Given the description of an element on the screen output the (x, y) to click on. 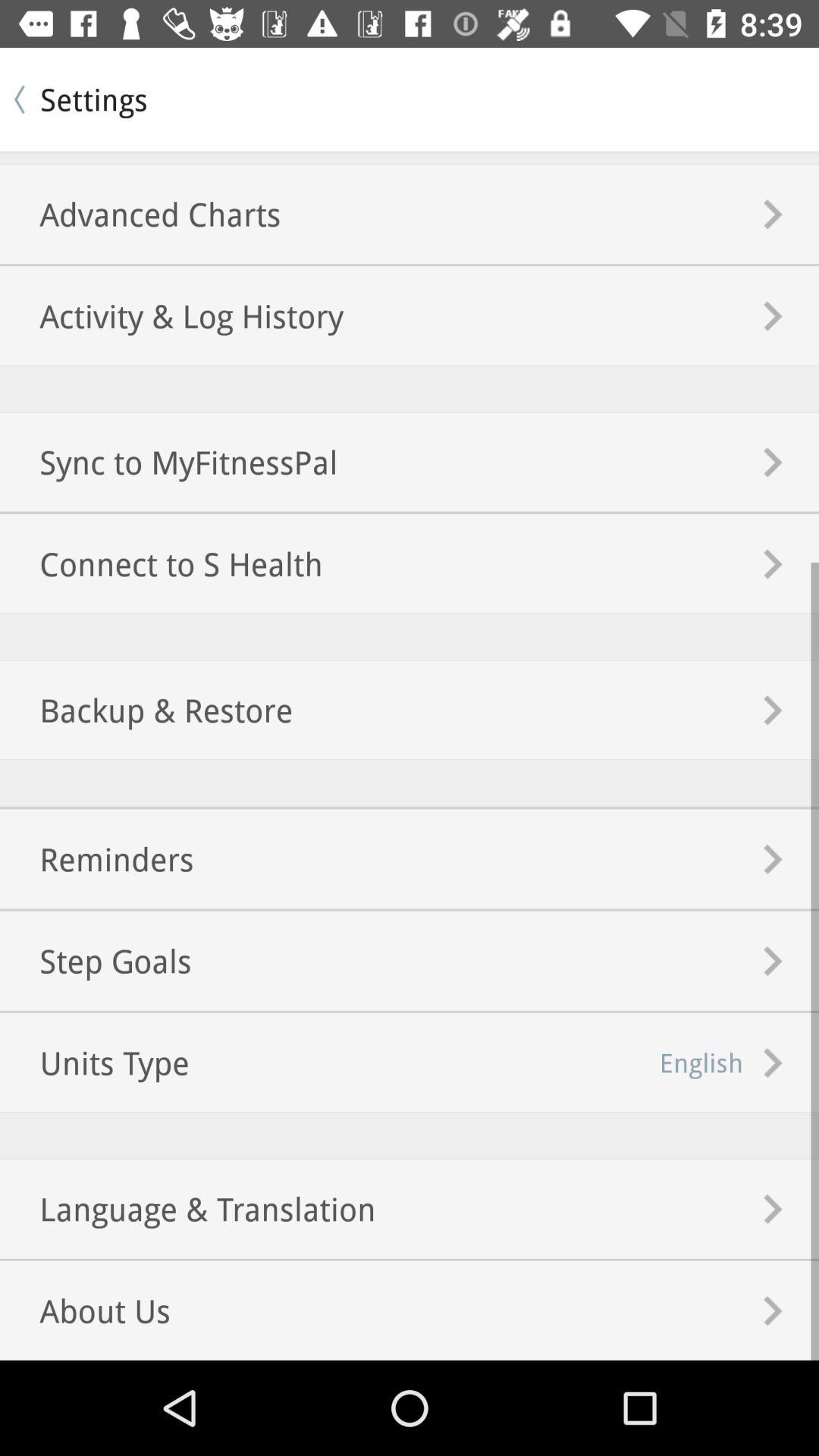
choose the reminders icon (96, 858)
